Given the description of an element on the screen output the (x, y) to click on. 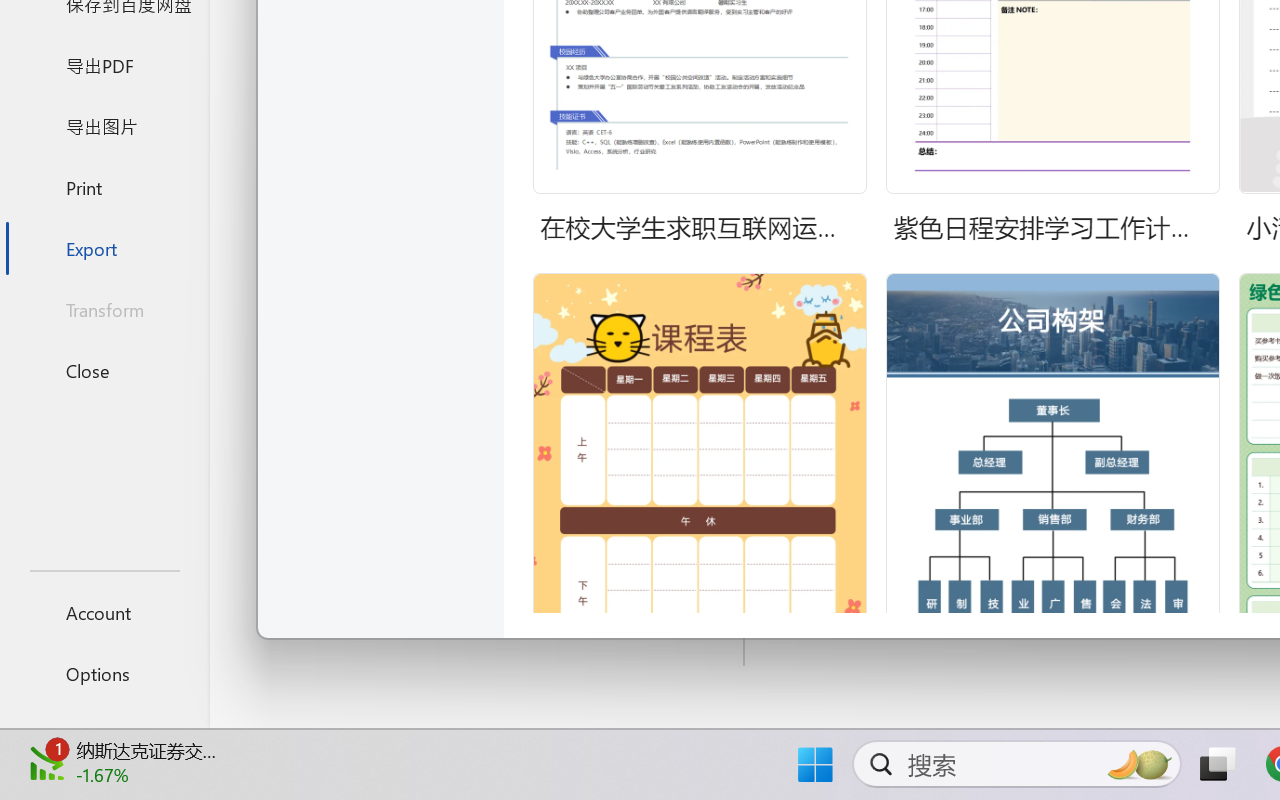
Export (104, 248)
Print (104, 186)
Transform (104, 309)
Account (104, 612)
Options (104, 673)
